Given the description of an element on the screen output the (x, y) to click on. 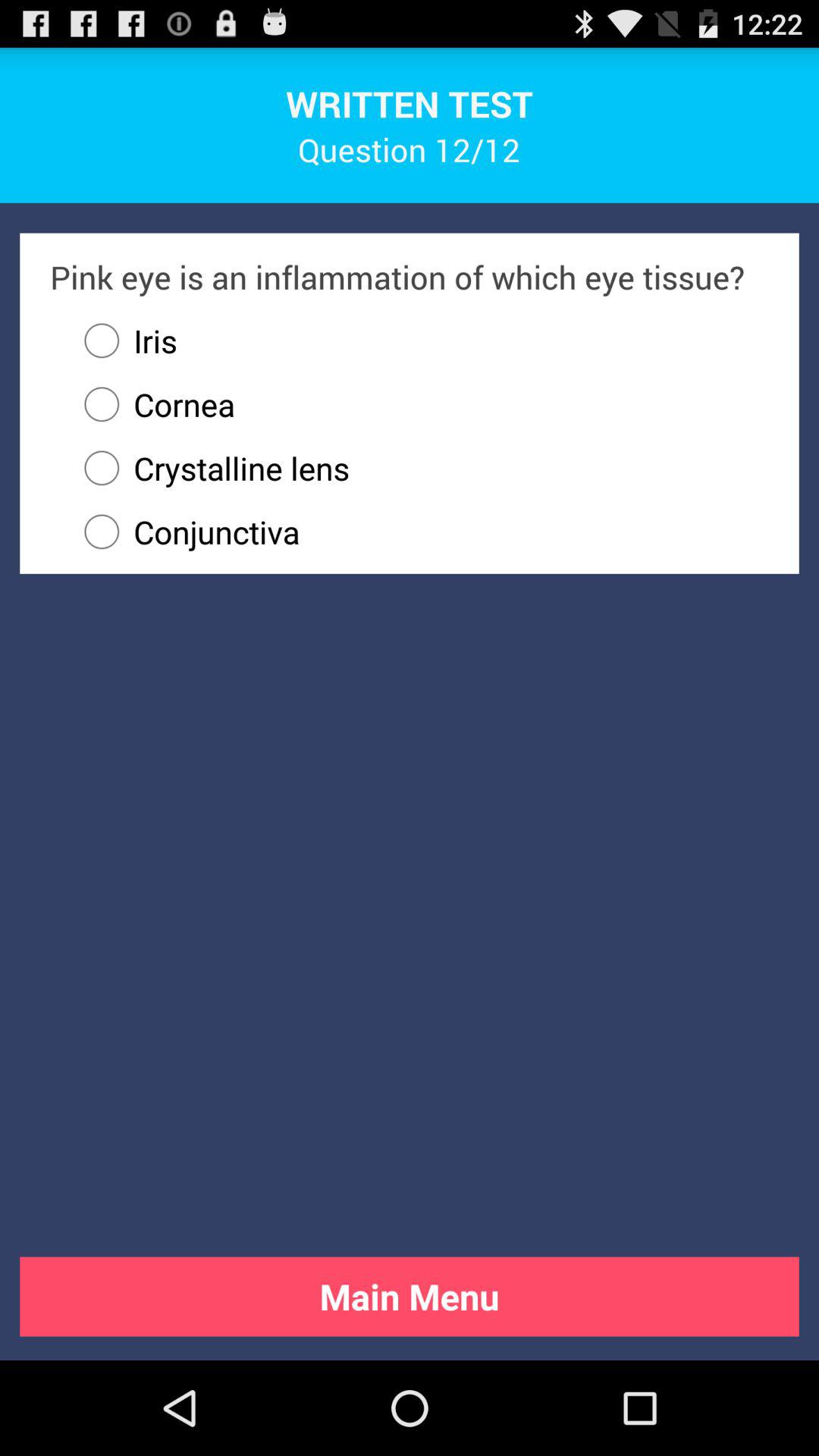
click the button at the bottom (409, 1296)
